Given the description of an element on the screen output the (x, y) to click on. 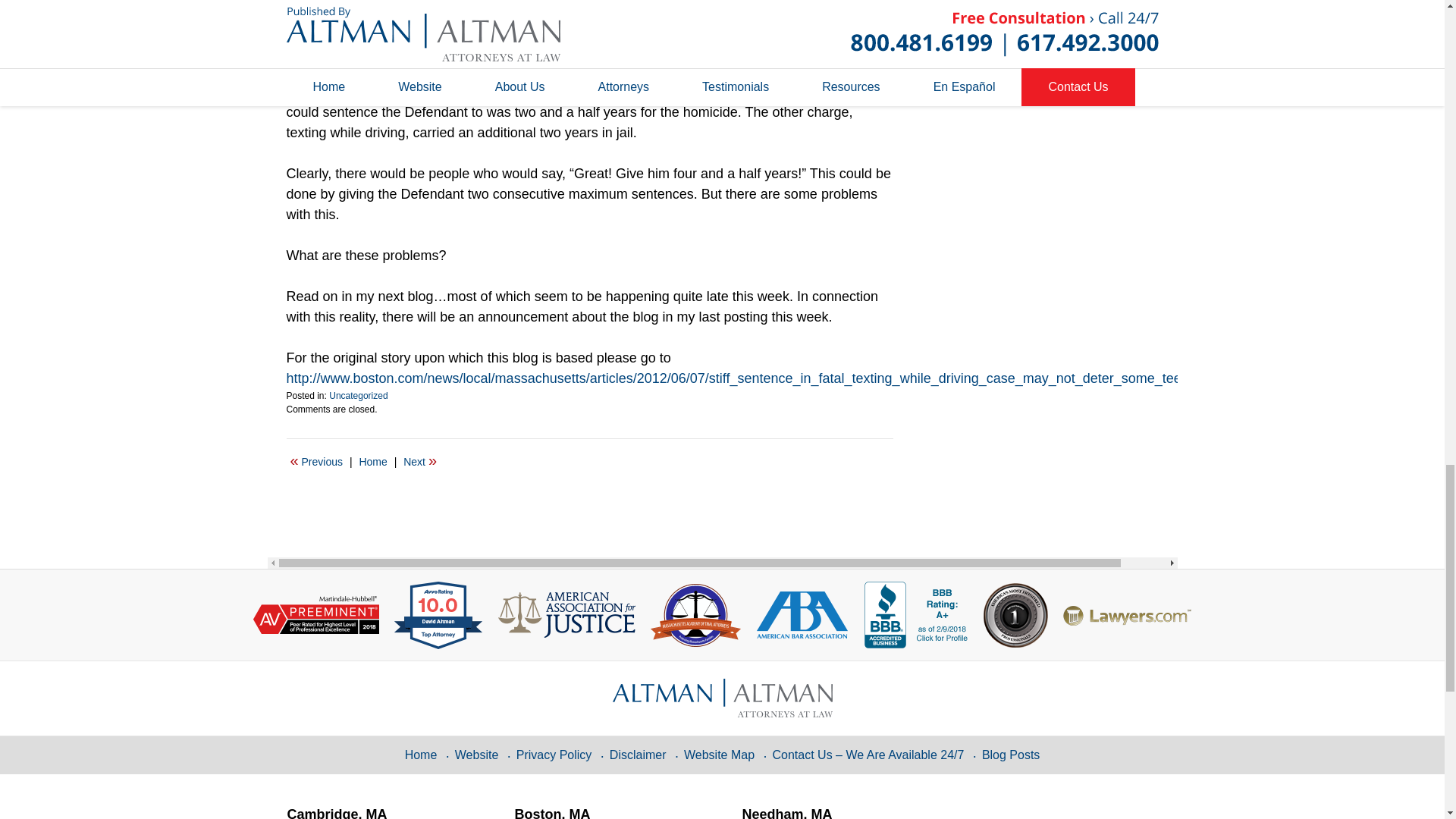
View all posts in Uncategorized (358, 395)
Boston criminal lawyer (356, 70)
Home (372, 461)
Uncategorized (358, 395)
